Given the description of an element on the screen output the (x, y) to click on. 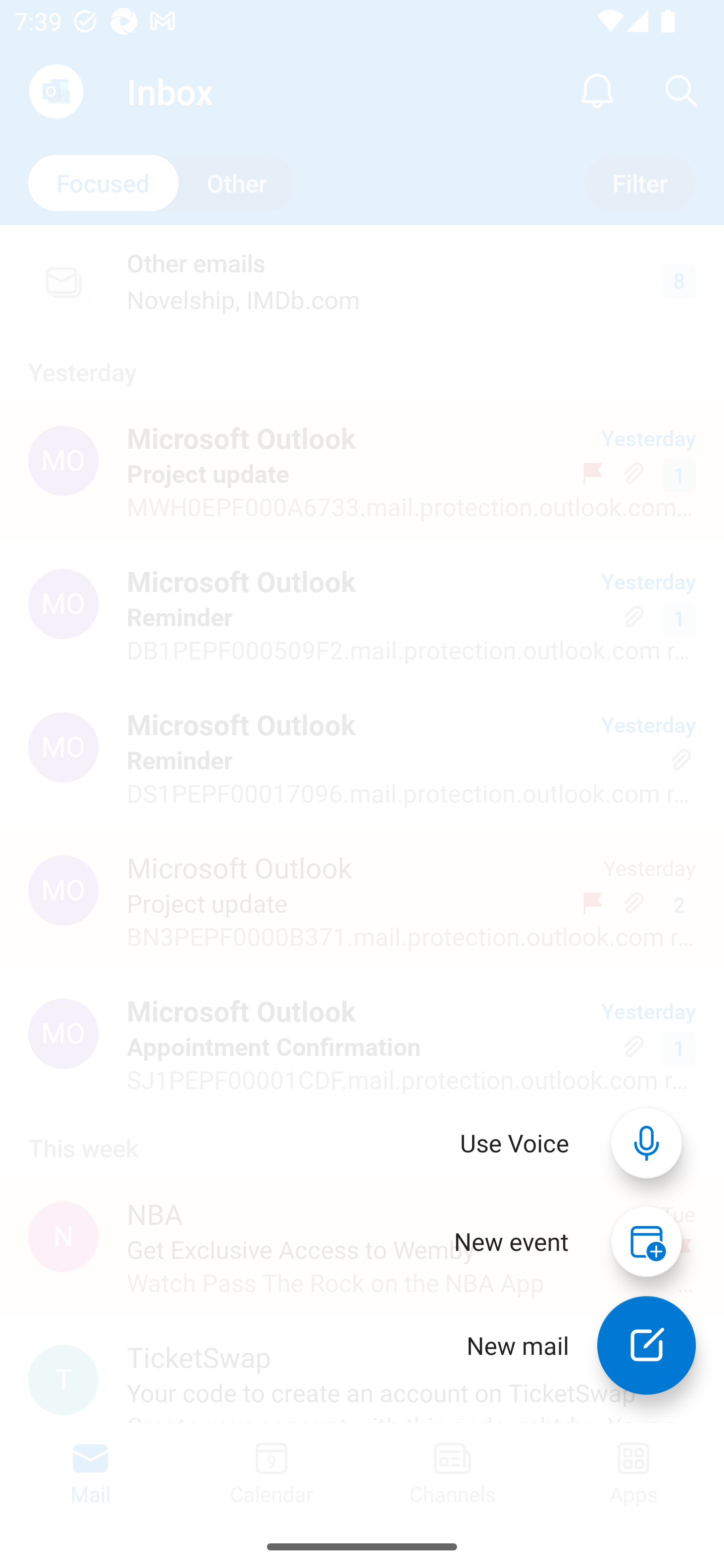
Use Voice (514, 1142)
New event (511, 1241)
New mail New mail New mail (566, 1344)
New mail (646, 1344)
